Given the description of an element on the screen output the (x, y) to click on. 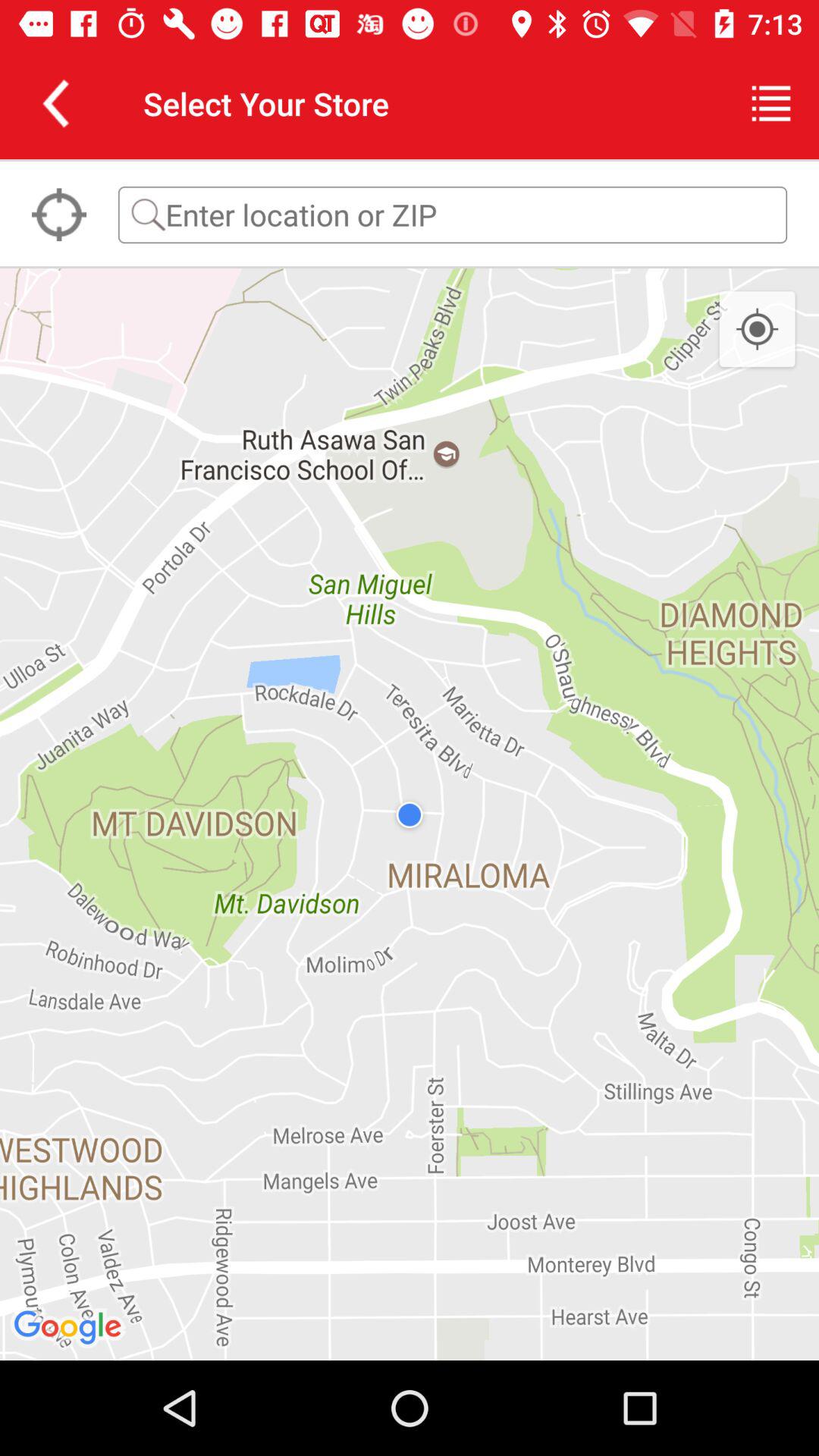
turn on the item to the right of select your store item (771, 103)
